Given the description of an element on the screen output the (x, y) to click on. 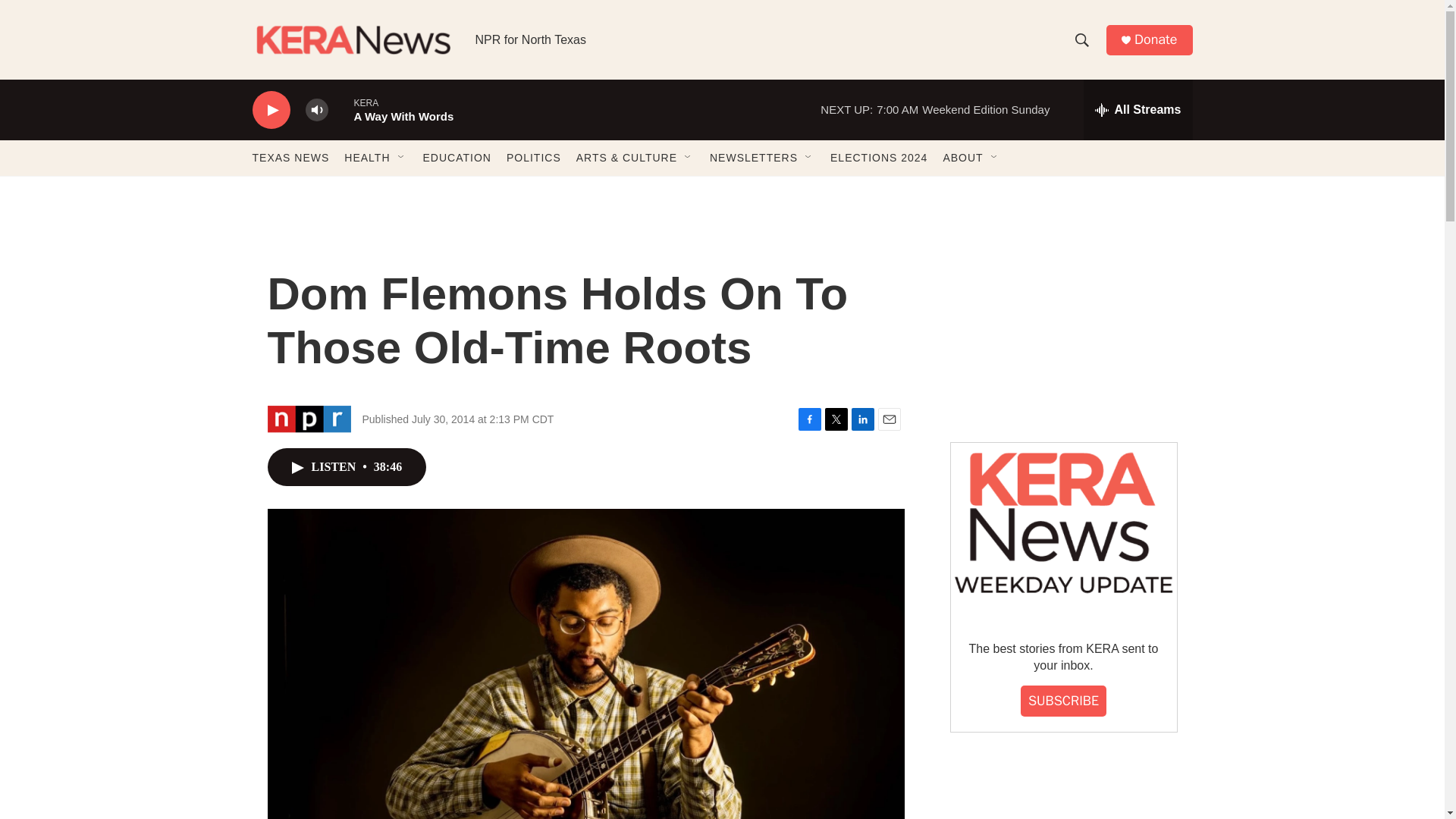
Show Search (1081, 39)
3rd party ad content (1062, 316)
3rd party ad content (1062, 790)
